Given the description of an element on the screen output the (x, y) to click on. 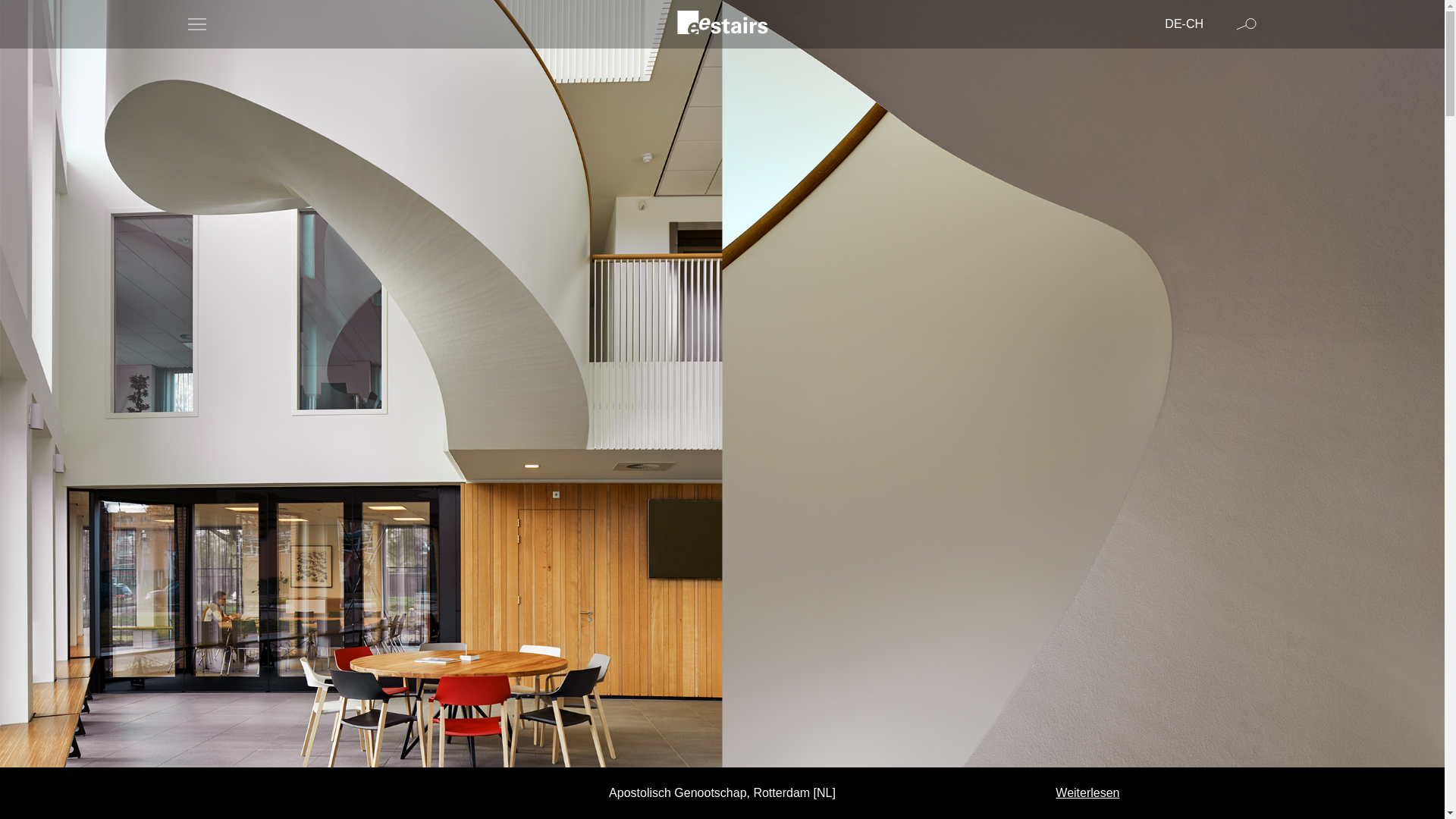
Open menu (196, 24)
home (722, 23)
DE-CH (1175, 24)
